Given the description of an element on the screen output the (x, y) to click on. 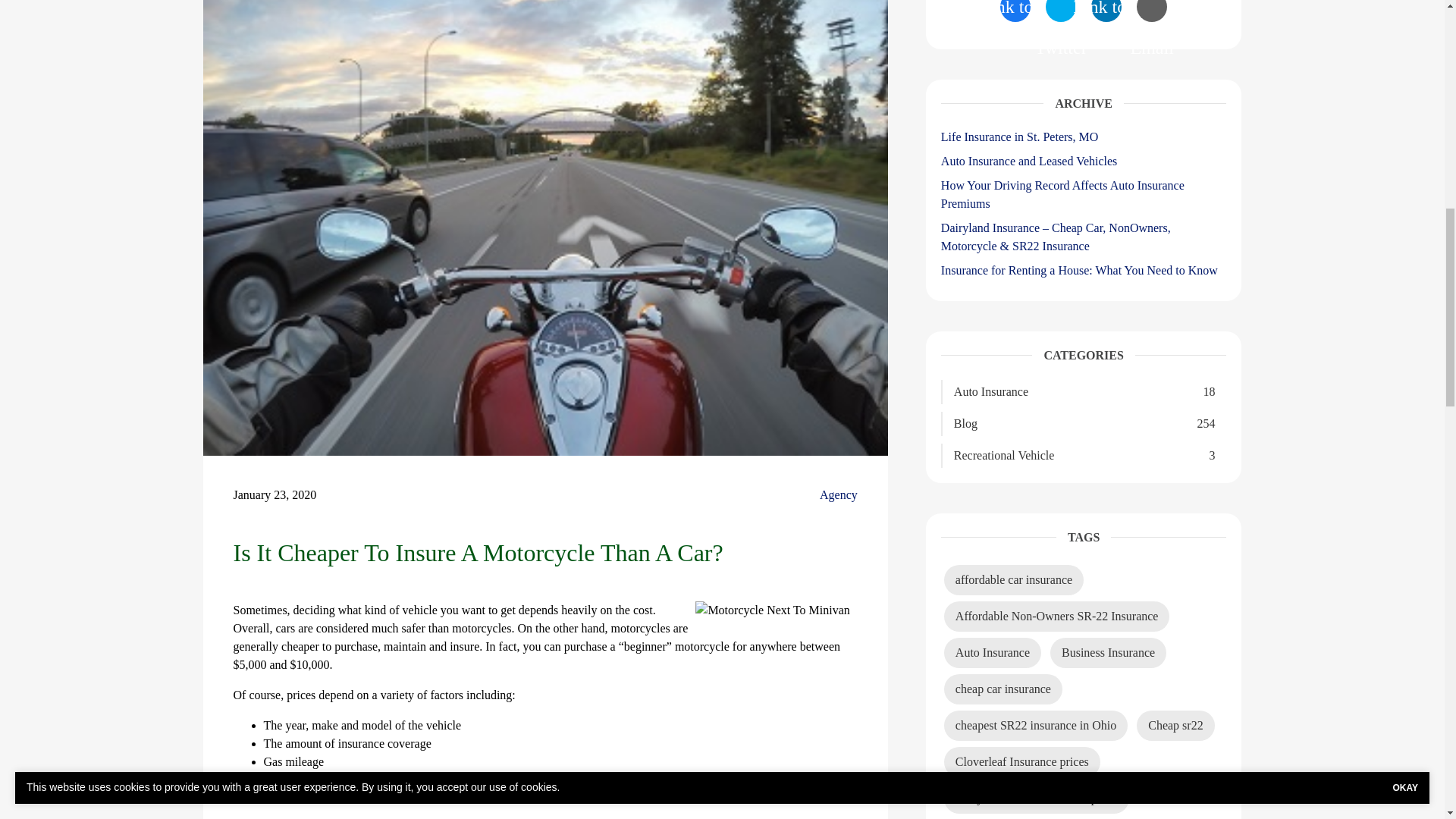
Agency (838, 495)
Agency (838, 495)
Is It Cheaper To Insure A Motorcycle Than A Car? (771, 610)
